Given the description of an element on the screen output the (x, y) to click on. 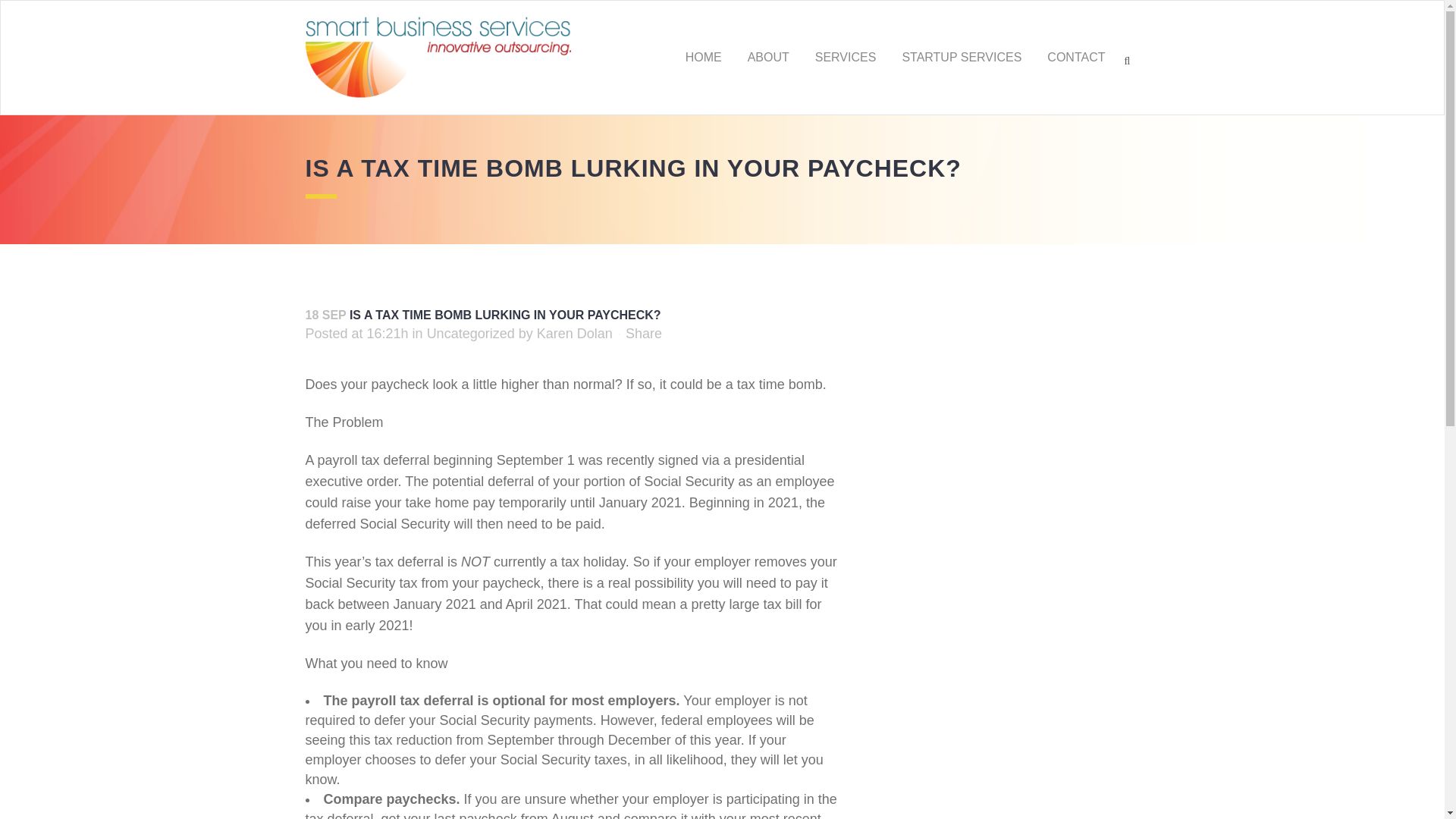
Karen Dolan (574, 333)
Share (644, 333)
CONTACT (1075, 57)
Uncategorized (470, 333)
HOME (703, 57)
ABOUT (768, 57)
SERVICES (845, 57)
STARTUP SERVICES (960, 57)
